Given the description of an element on the screen output the (x, y) to click on. 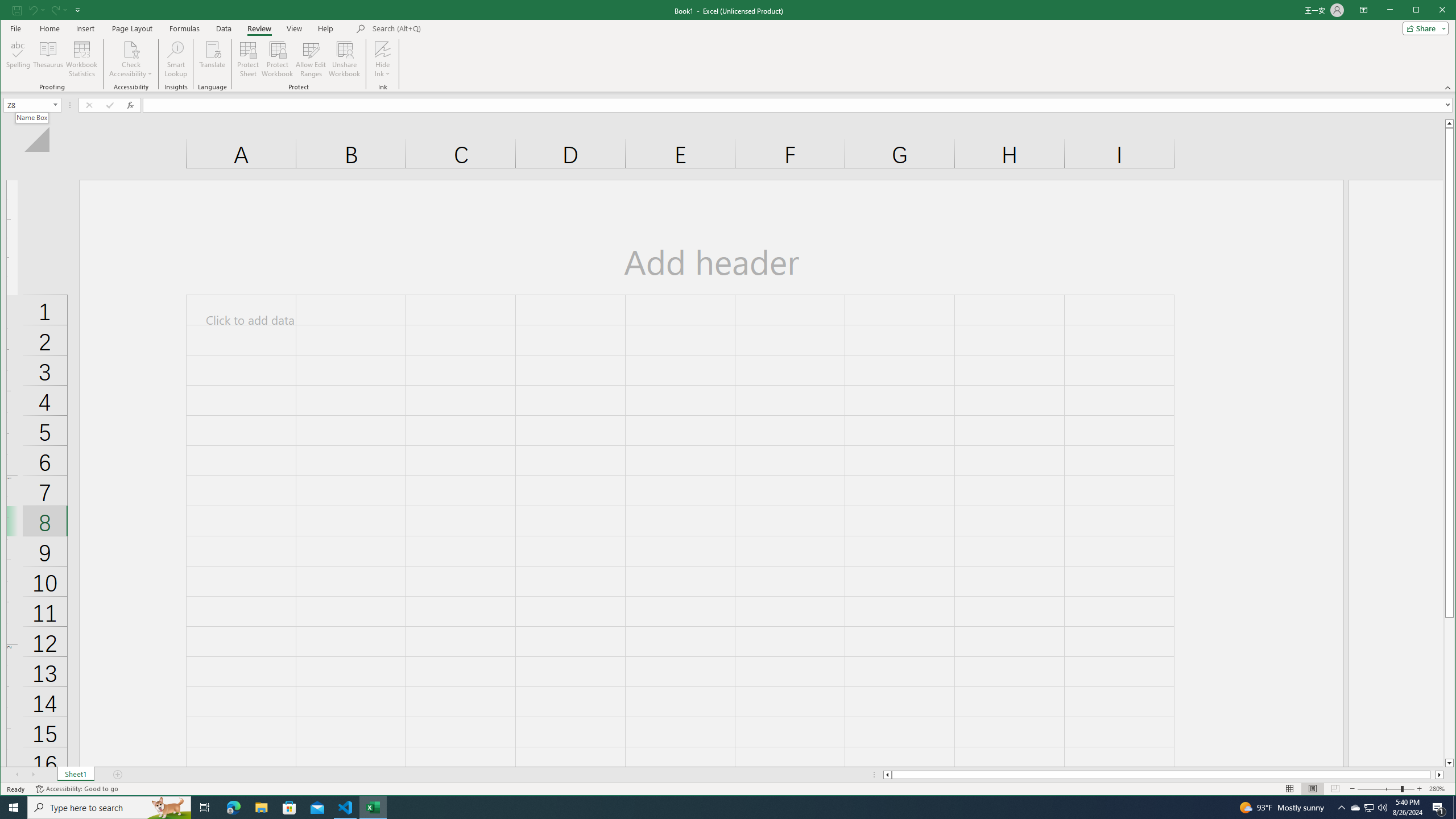
Protect Workbook... (277, 59)
Check Accessibility (130, 59)
Start (13, 807)
Microsoft Edge (233, 807)
